Given the description of an element on the screen output the (x, y) to click on. 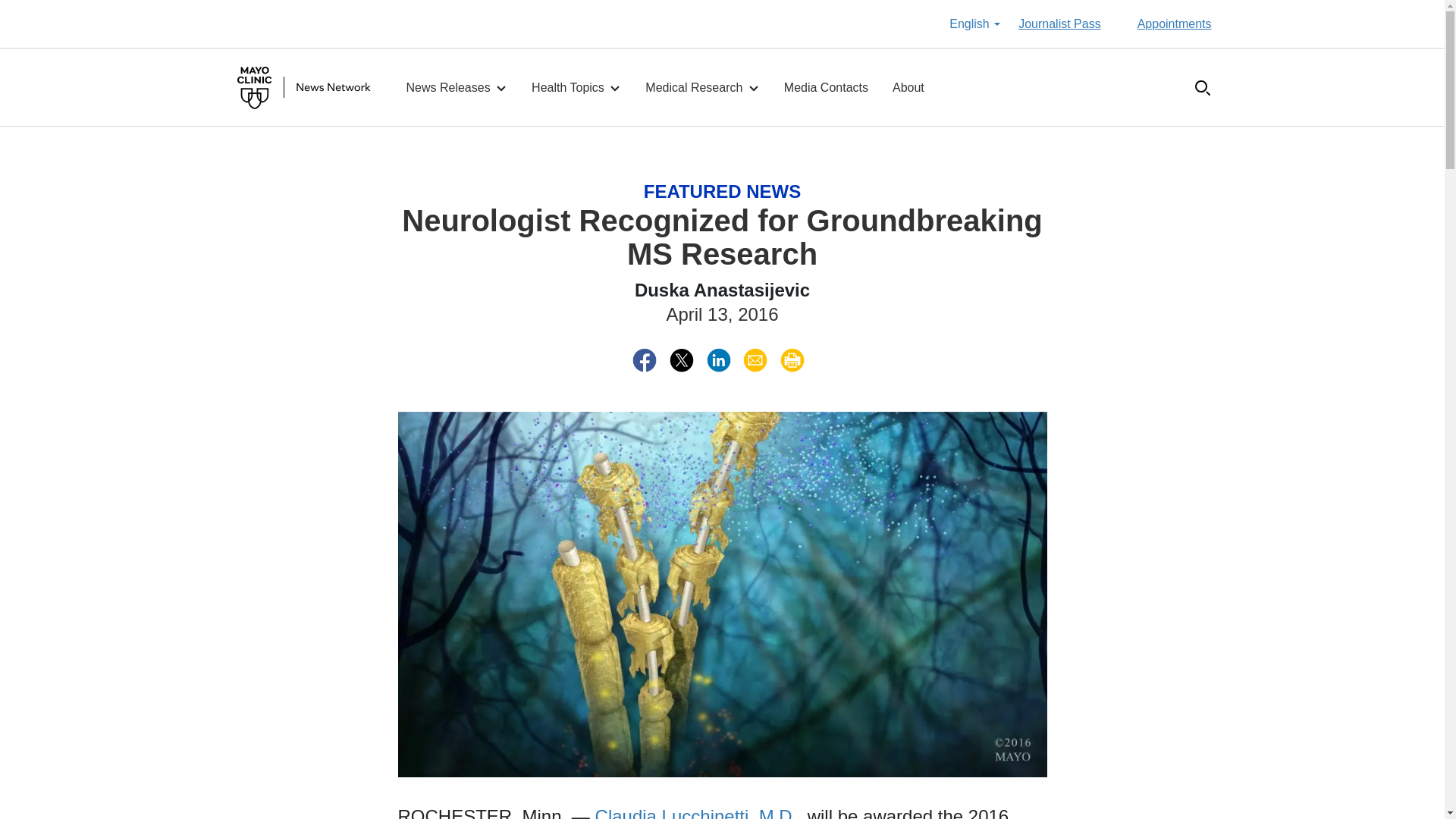
Medical Research (702, 87)
Health Topics (576, 87)
Journalist Pass (1058, 23)
News Releases (457, 87)
Appointments (1174, 24)
Health Topics (576, 87)
English (974, 23)
News Releases (457, 87)
Journalist Pass (1058, 23)
English (974, 23)
